Given the description of an element on the screen output the (x, y) to click on. 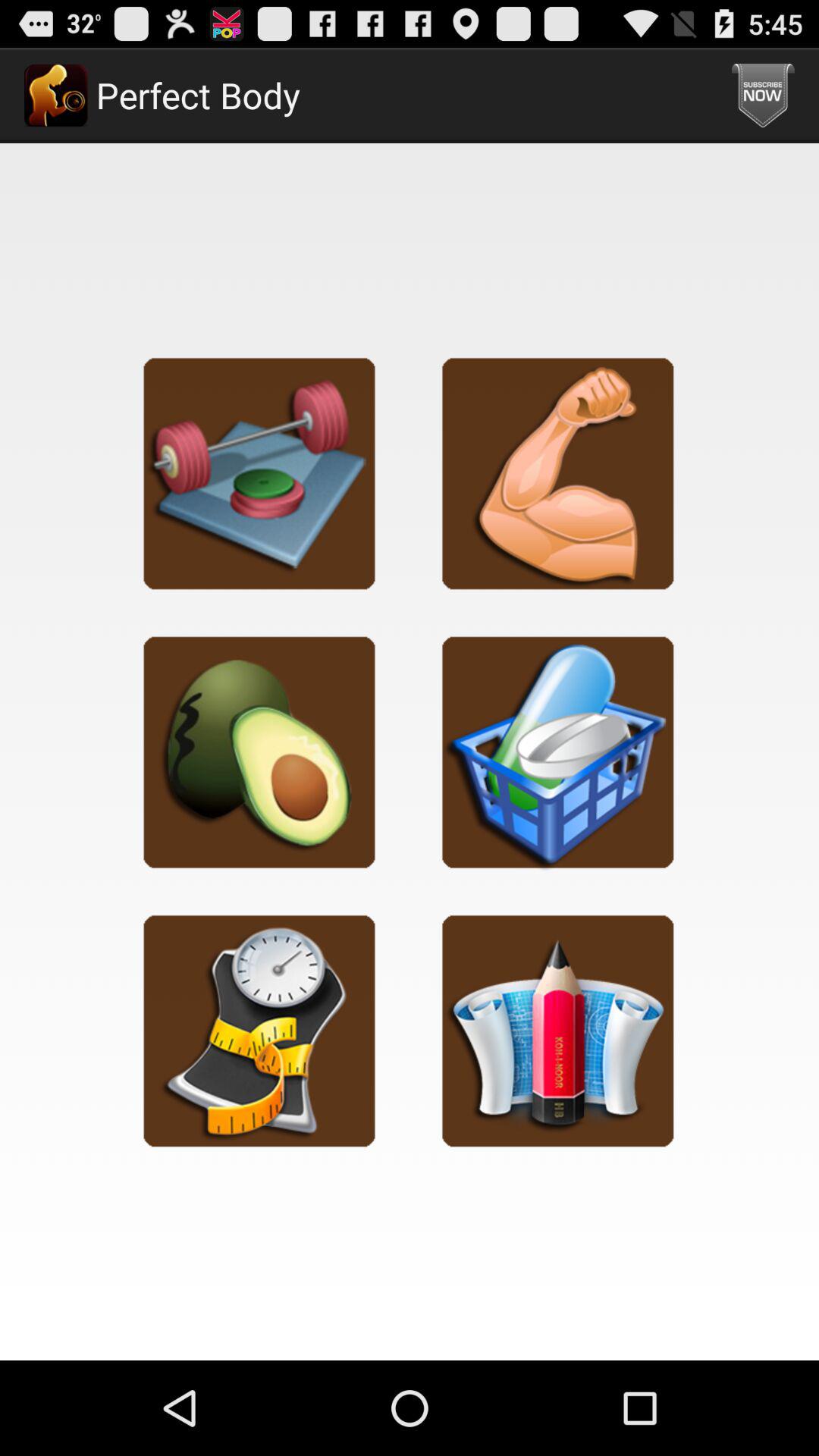
click option (259, 1030)
